Given the description of an element on the screen output the (x, y) to click on. 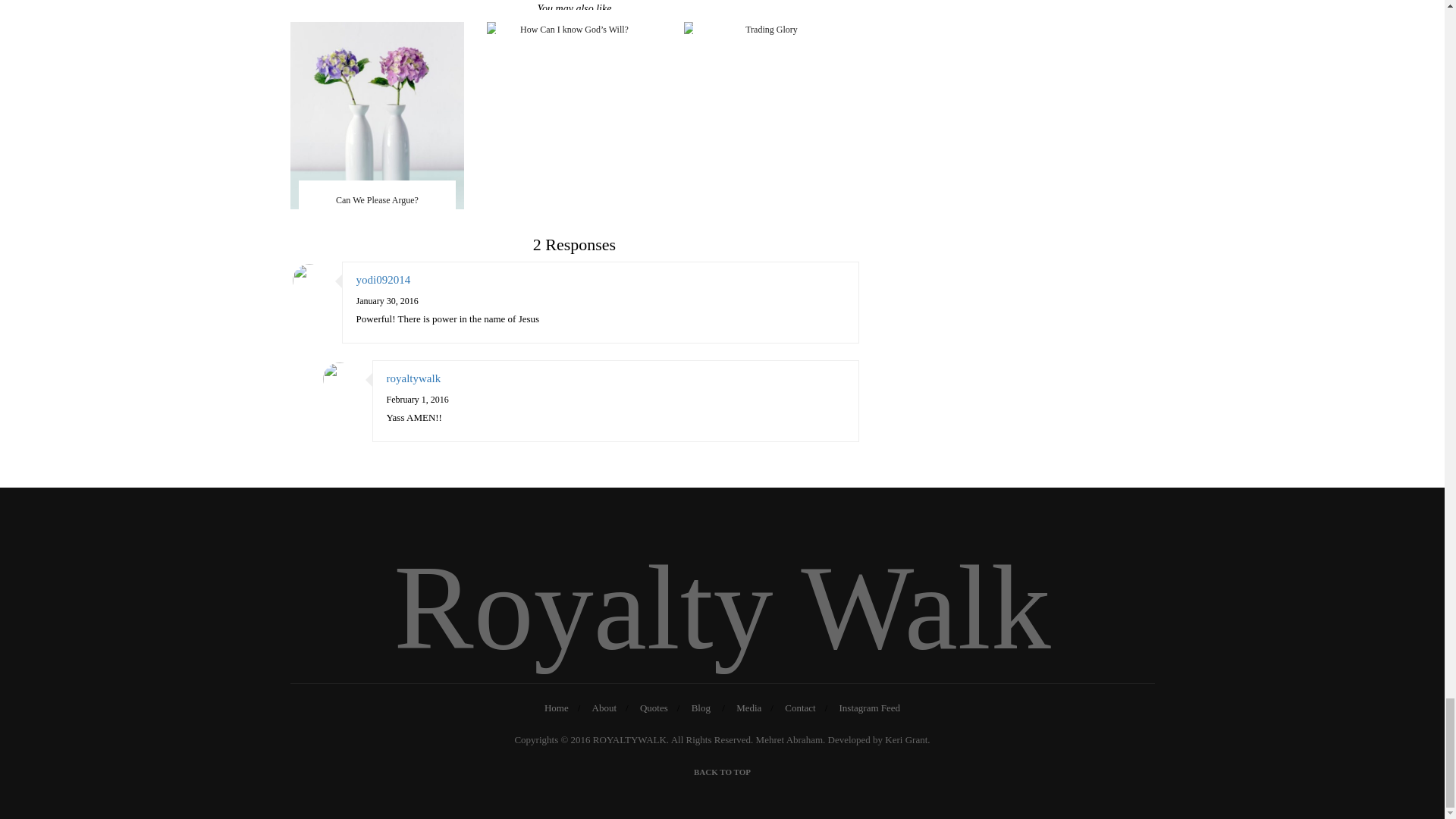
Can We Please Argue? (376, 115)
Trading Glory (771, 29)
